Given the description of an element on the screen output the (x, y) to click on. 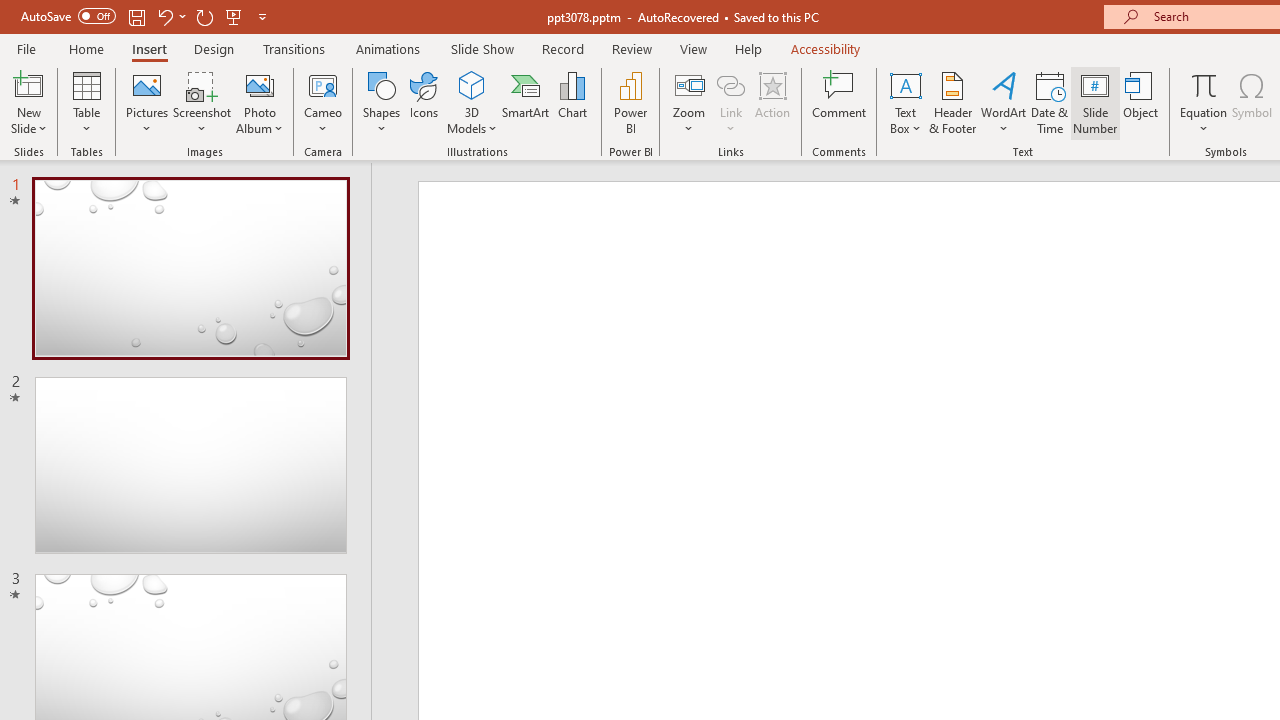
Header & Footer... (952, 102)
WordArt (1004, 102)
Power BI (630, 102)
Screenshot (202, 102)
Date & Time... (1050, 102)
